Given the description of an element on the screen output the (x, y) to click on. 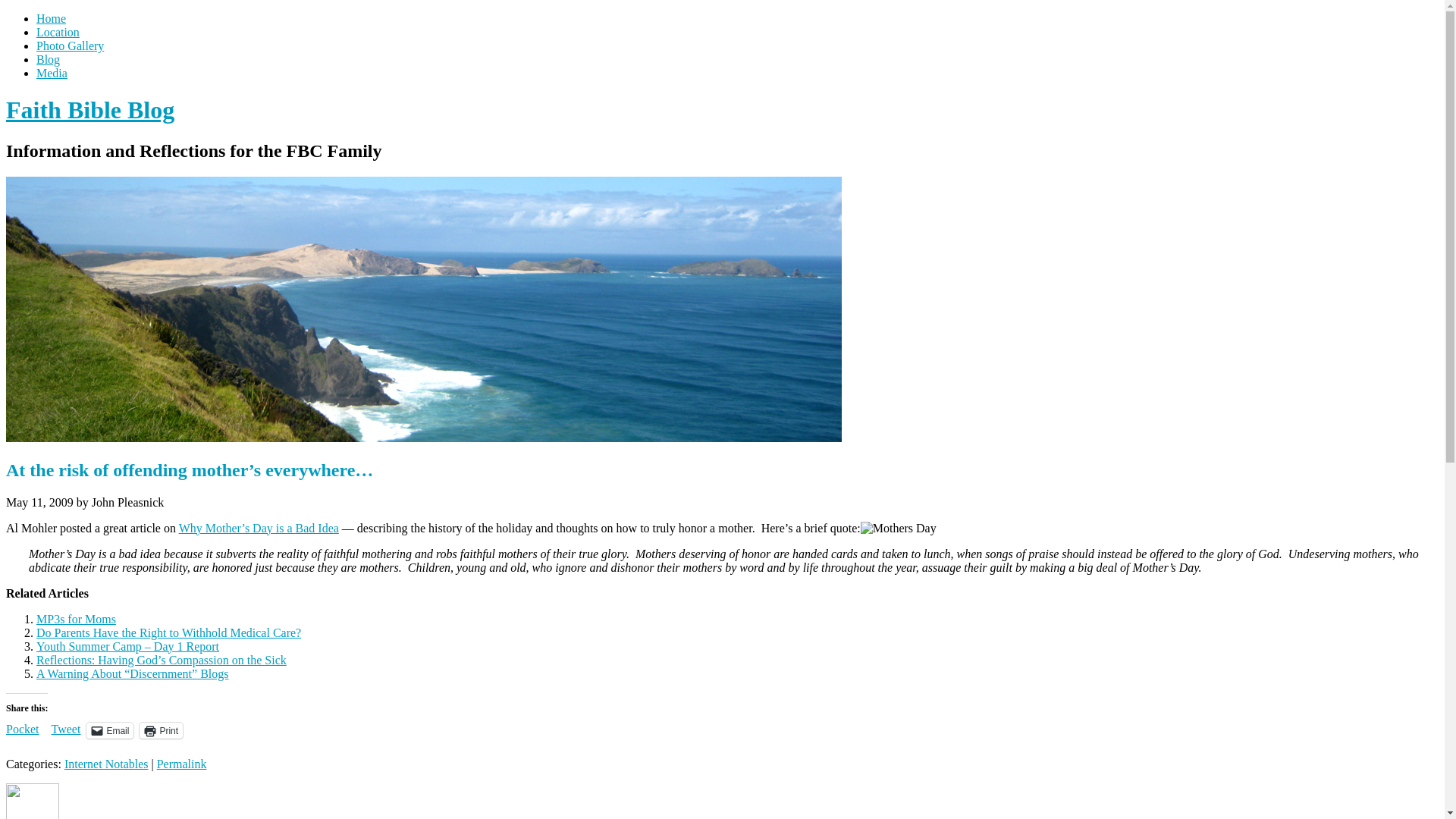
Blog (47, 59)
Location (58, 31)
Tweet (65, 729)
Print (161, 730)
Faith Bible Blog (89, 109)
Media (51, 72)
Permalink (181, 763)
Photo Gallery (69, 45)
Internet Notables (106, 763)
